Given the description of an element on the screen output the (x, y) to click on. 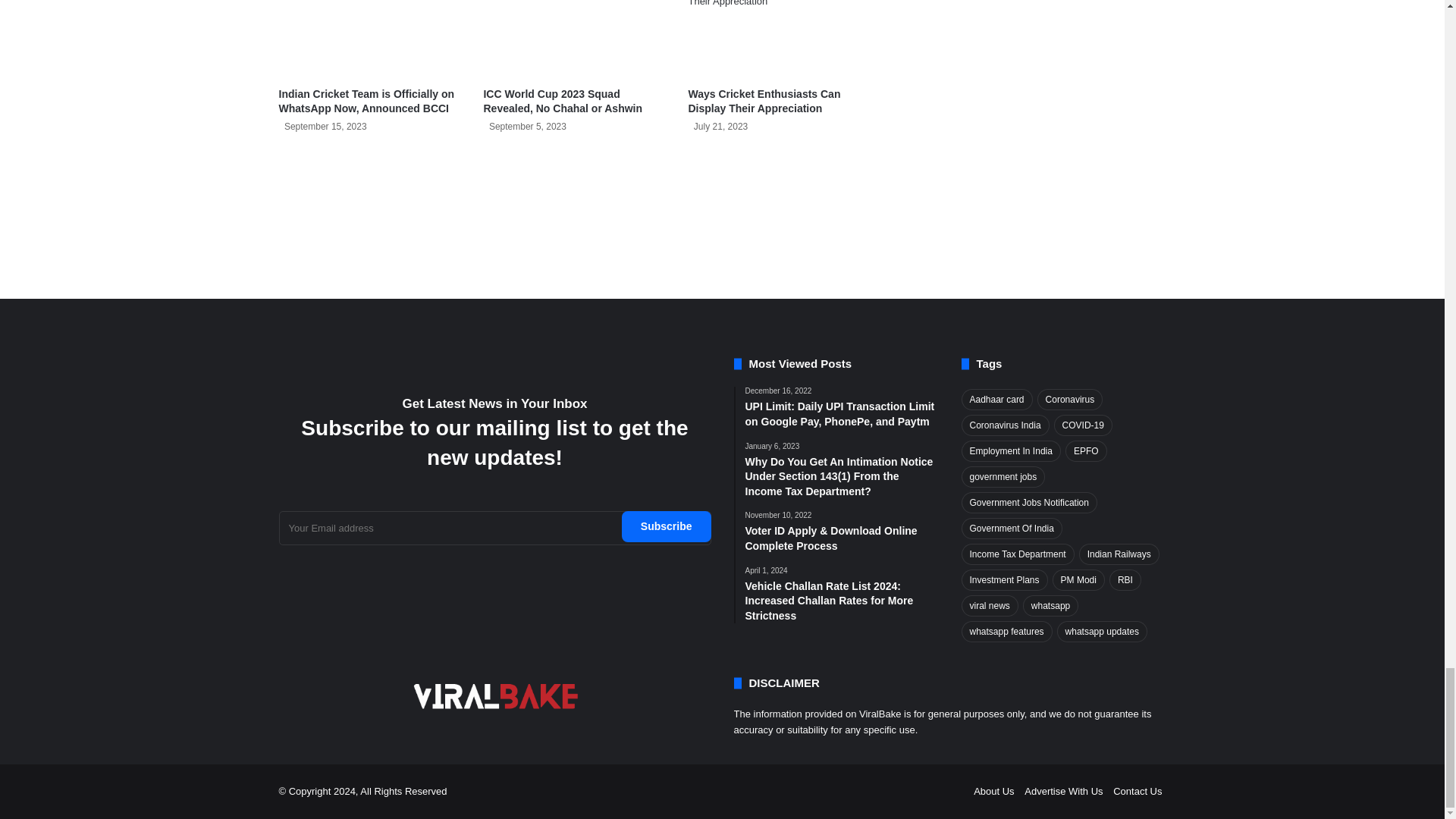
Subscribe (666, 526)
